Given the description of an element on the screen output the (x, y) to click on. 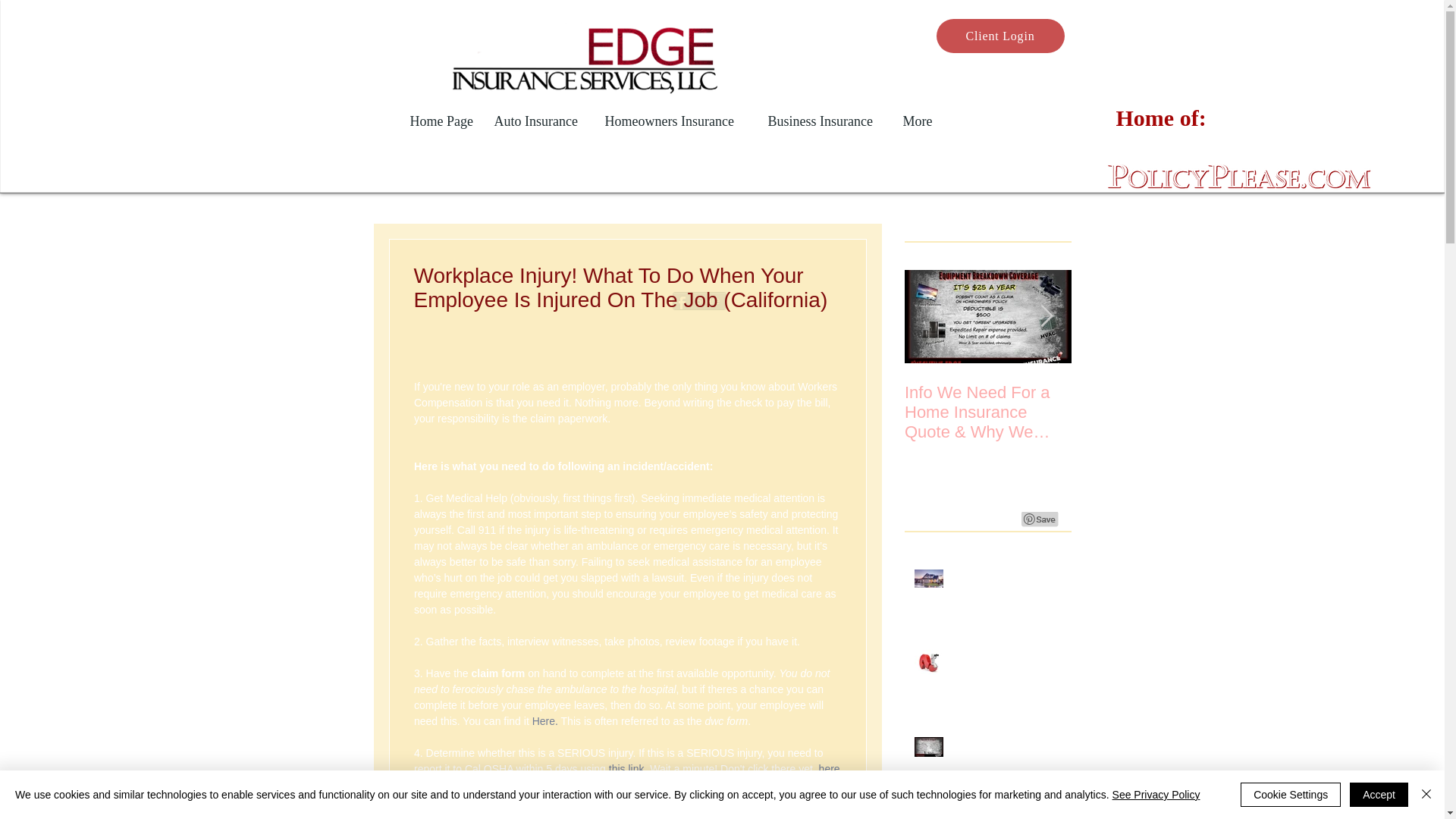
Here. (544, 720)
 at the DIR website, it tells you how to define SERIOUS:  (628, 776)
Share (698, 300)
Apply for Insurance Through the Exchange... (1153, 412)
here (829, 768)
Business Insurance (827, 121)
Home Page (443, 121)
Auto Insurance Coverage Definitions (1006, 666)
Pin to Pinterest (1039, 519)
Homeowners Insurance (676, 121)
